Given the description of an element on the screen output the (x, y) to click on. 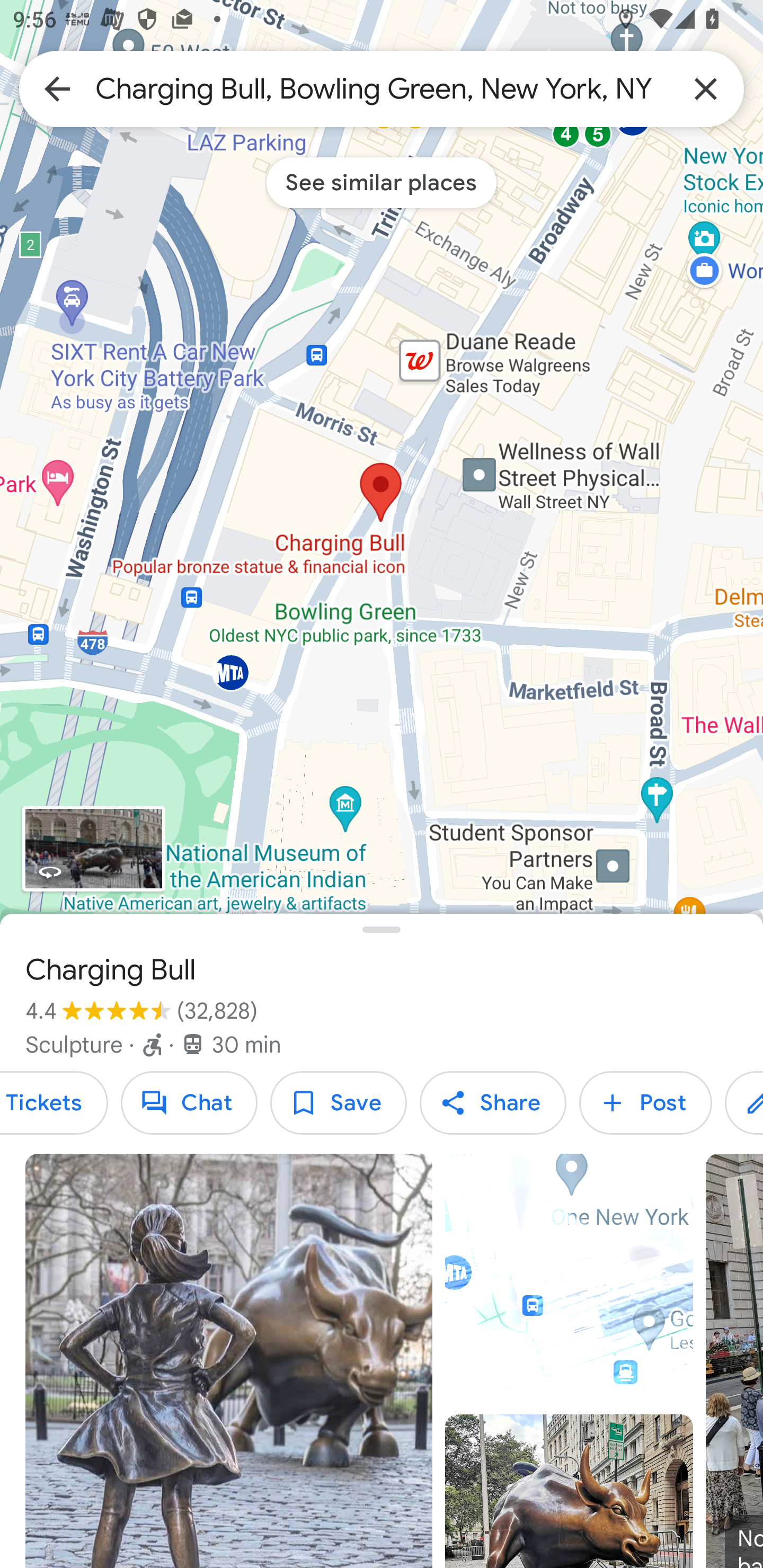
Back (57, 88)
Charging Bull, Bowling Green, New York, NY (381, 88)
Clear (705, 88)
See similar places (381, 182)
View Street view imagery for Charging Bull (93, 848)
Tickets (54, 1102)
Chat (188, 1102)
Share Charging Bull Share Share Charging Bull (492, 1102)
Post Post Post (645, 1102)
Photo (228, 1361)
Video (568, 1277)
Photo (568, 1491)
